Given the description of an element on the screen output the (x, y) to click on. 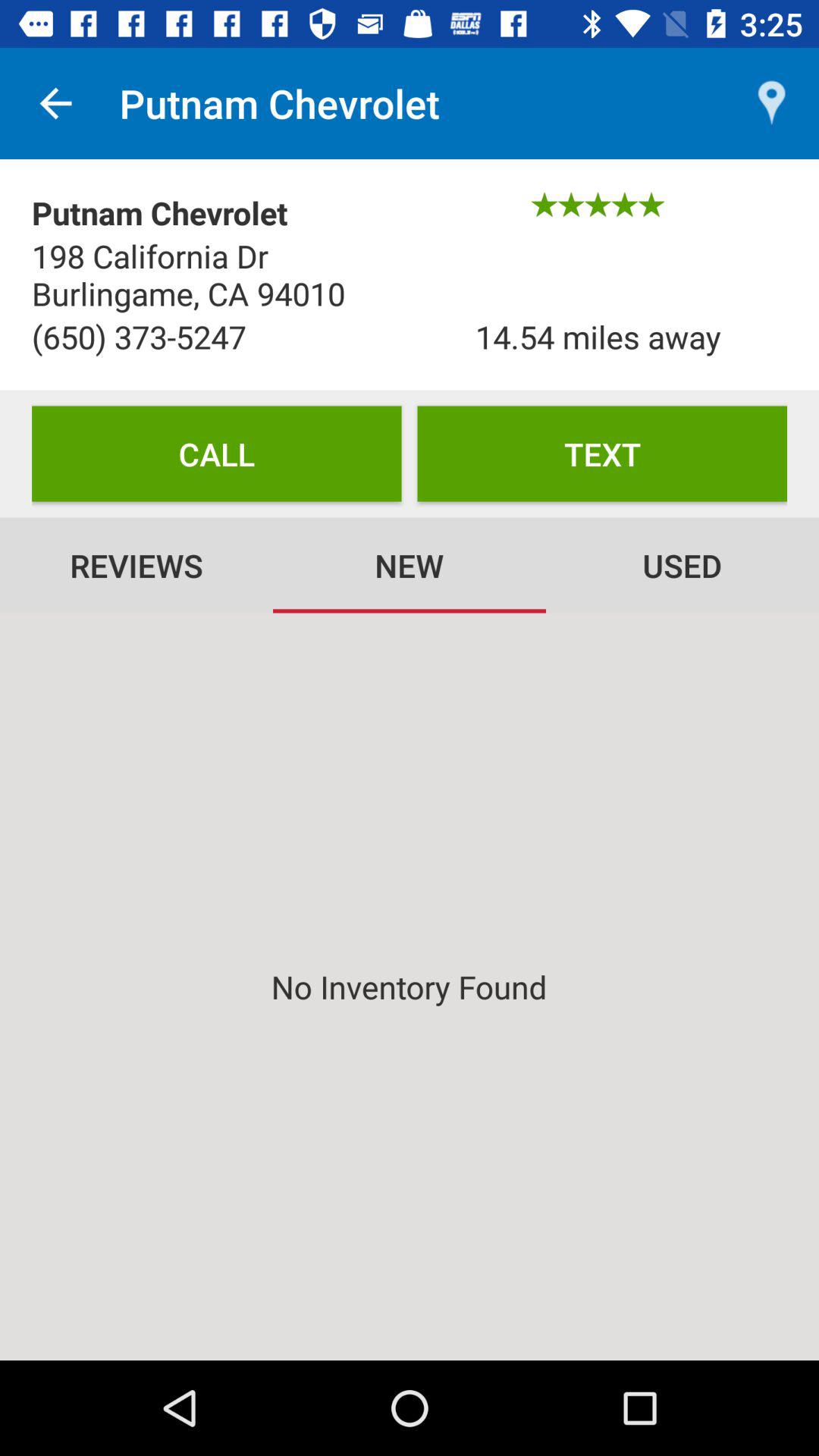
tap icon to the left of text icon (216, 453)
